Given the description of an element on the screen output the (x, y) to click on. 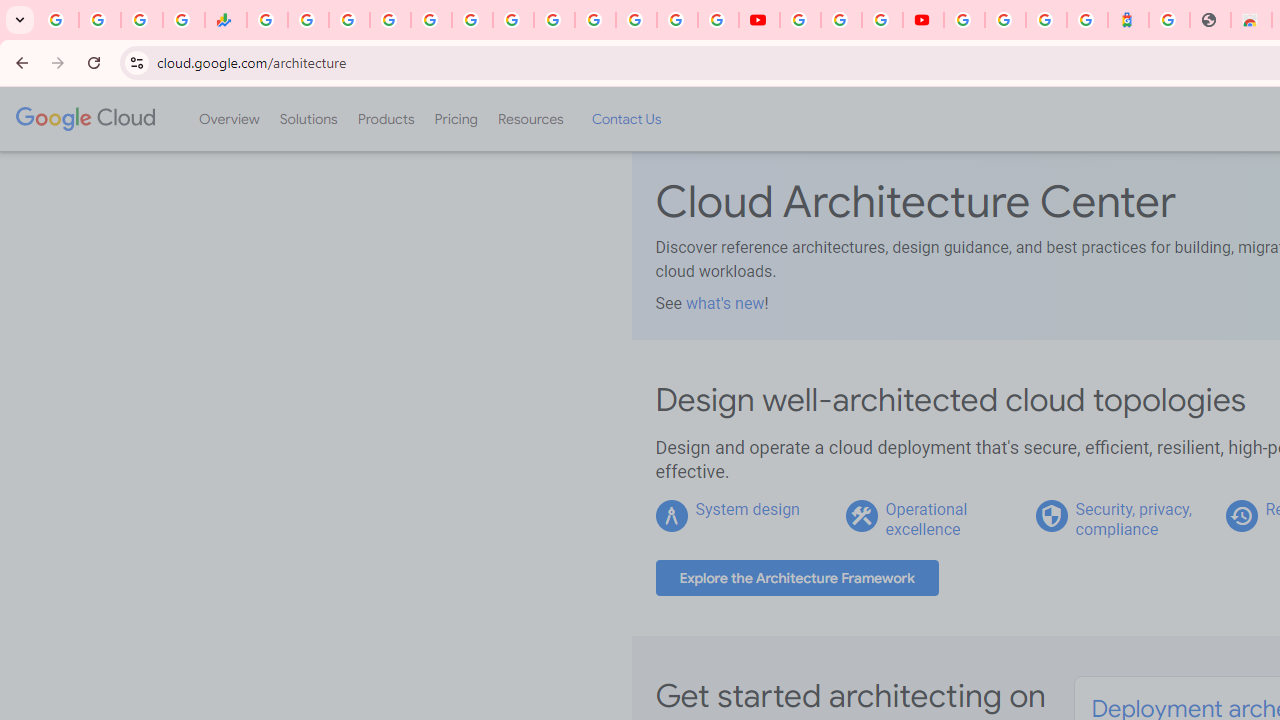
Create your Google Account (881, 20)
Solutions (308, 119)
YouTube (553, 20)
